Given the description of an element on the screen output the (x, y) to click on. 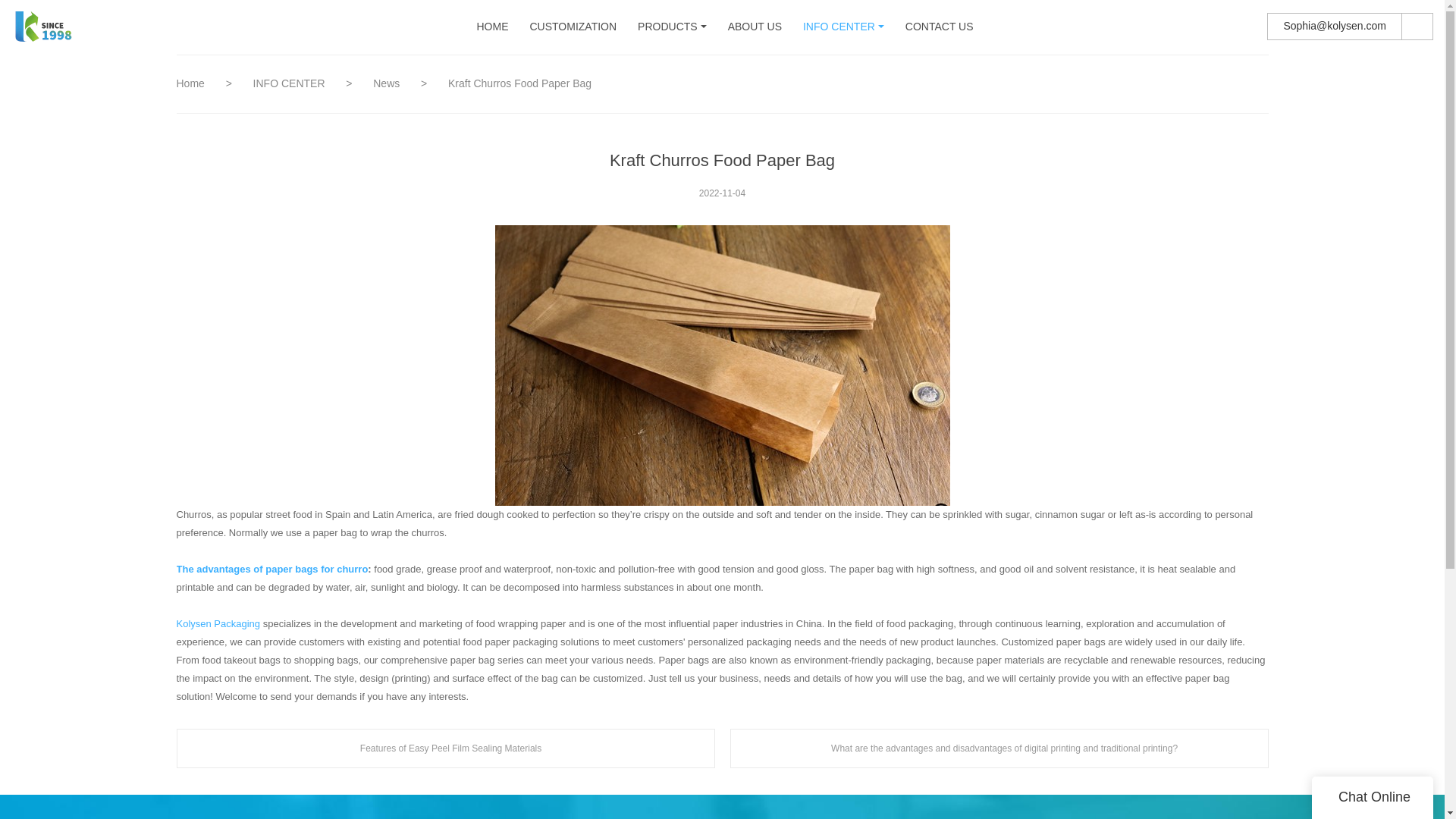
News (387, 82)
Kraft Churros Food Paper Bag (722, 365)
Home (189, 82)
Kolysen Packaging (219, 623)
PRODUCTS (667, 26)
INFO CENTER (839, 26)
CONTACT US (939, 26)
The advantages of paper bags for churro (272, 568)
HOME (492, 26)
CUSTOMIZATION (572, 26)
ABOUT US (754, 26)
INFO CENTER (291, 82)
Features of Easy Peel Film Sealing Materials (445, 748)
